Given the description of an element on the screen output the (x, y) to click on. 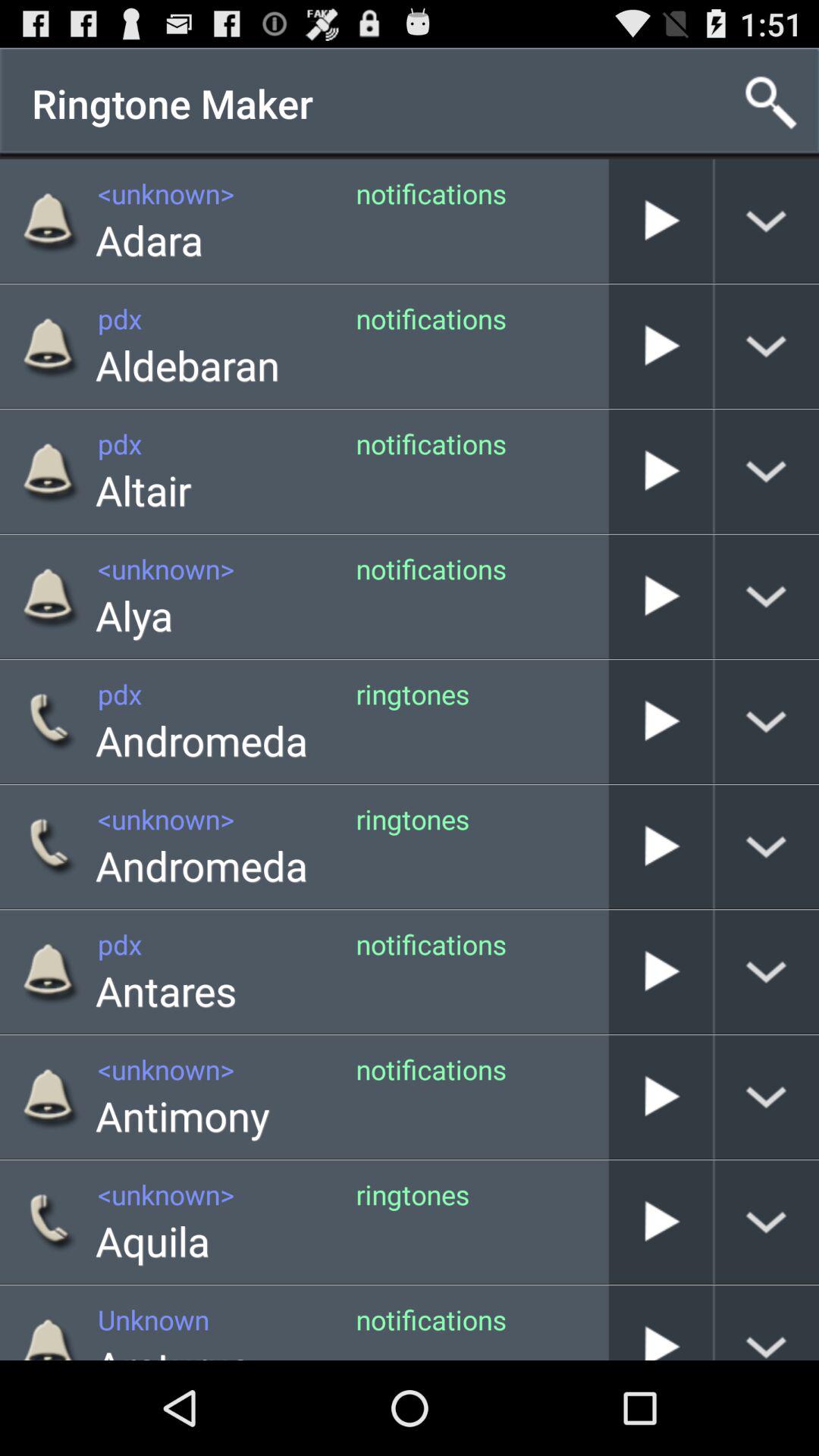
choose arcturus icon (172, 1349)
